Given the description of an element on the screen output the (x, y) to click on. 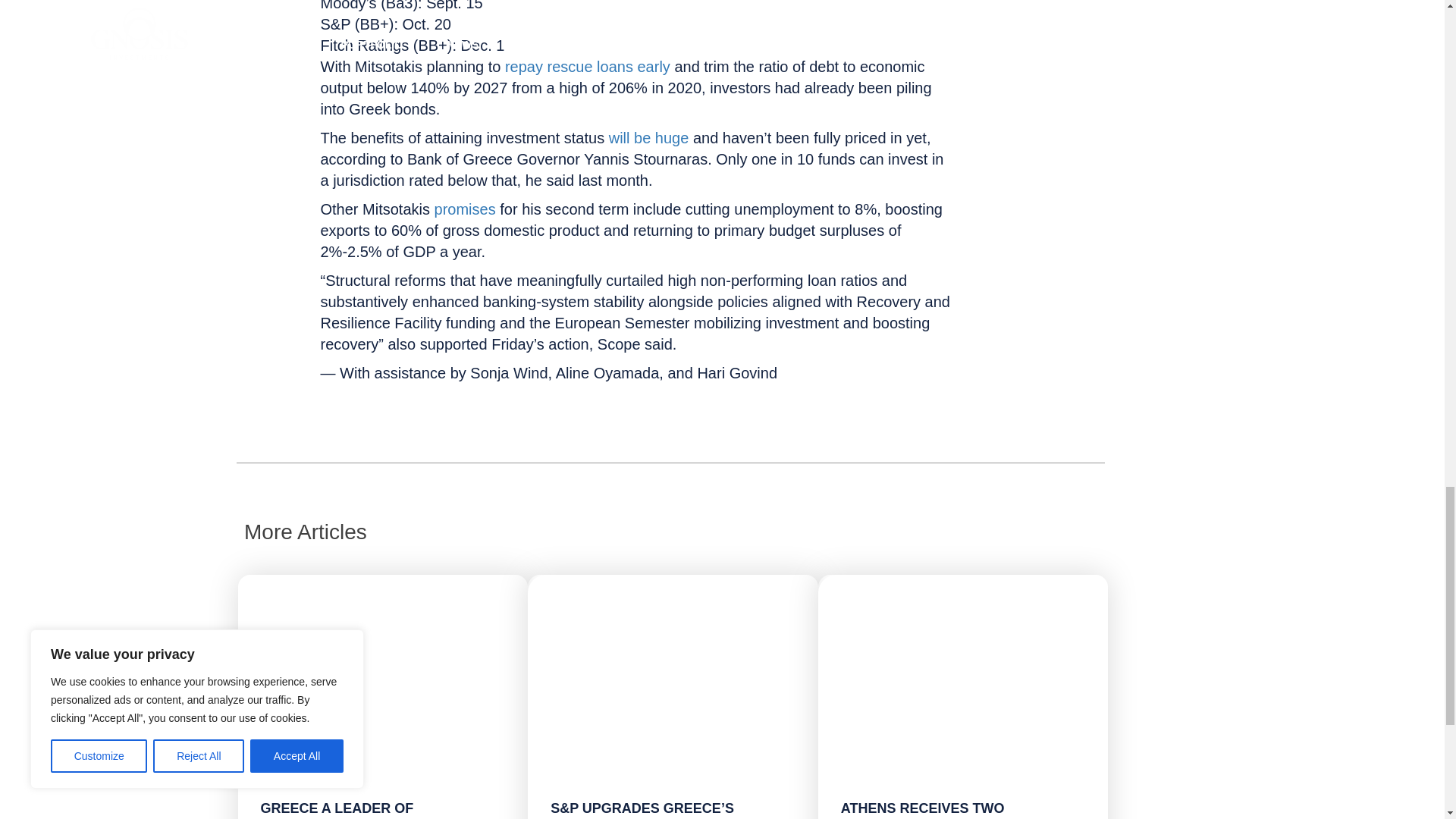
repay rescue loans early (587, 66)
will be huge (648, 137)
